Given the description of an element on the screen output the (x, y) to click on. 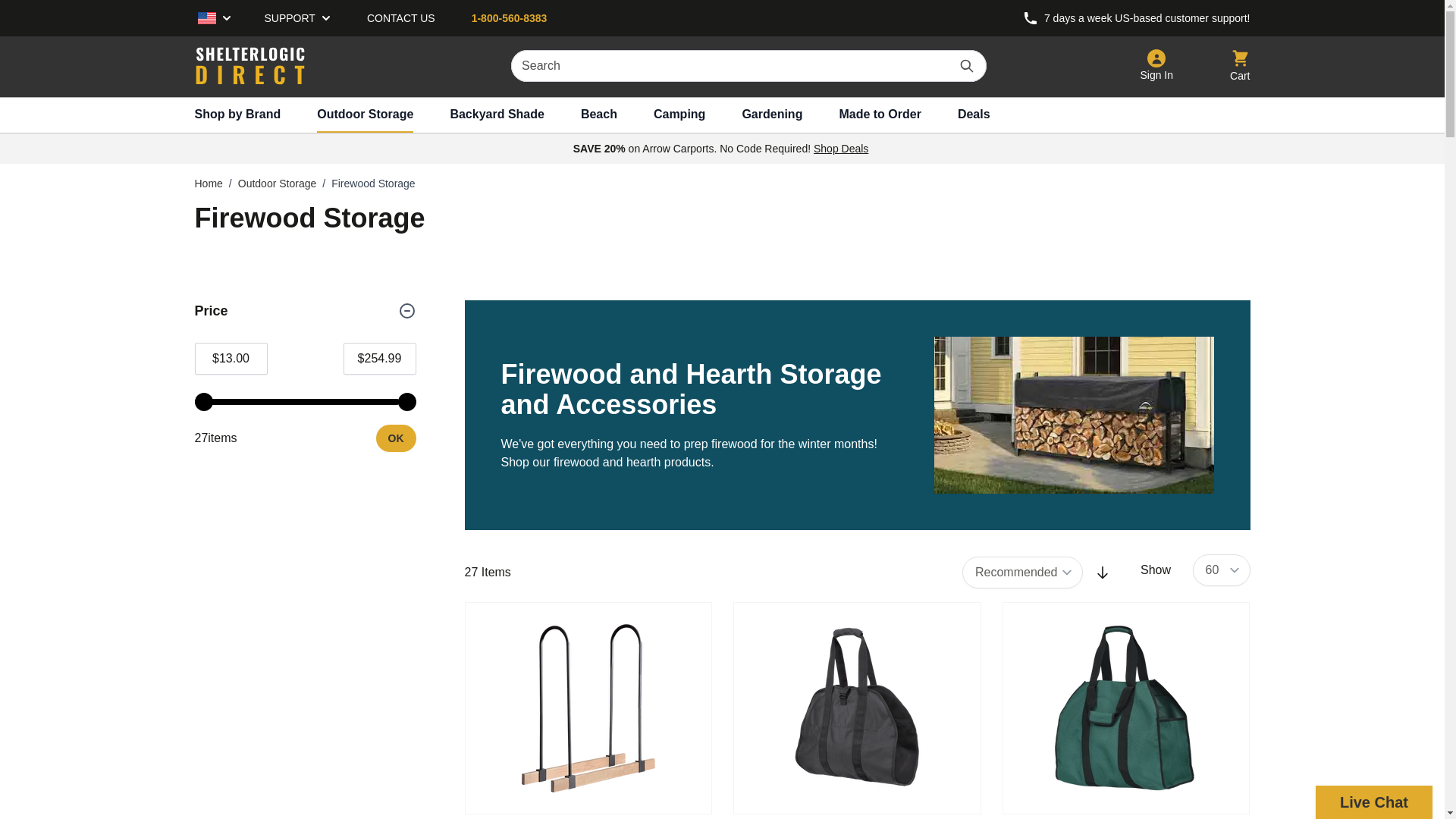
SUPPORT (296, 17)
800-932-9344 (1030, 17)
CONTACT US (400, 17)
1-800-560-8383 (208, 17)
